Given the description of an element on the screen output the (x, y) to click on. 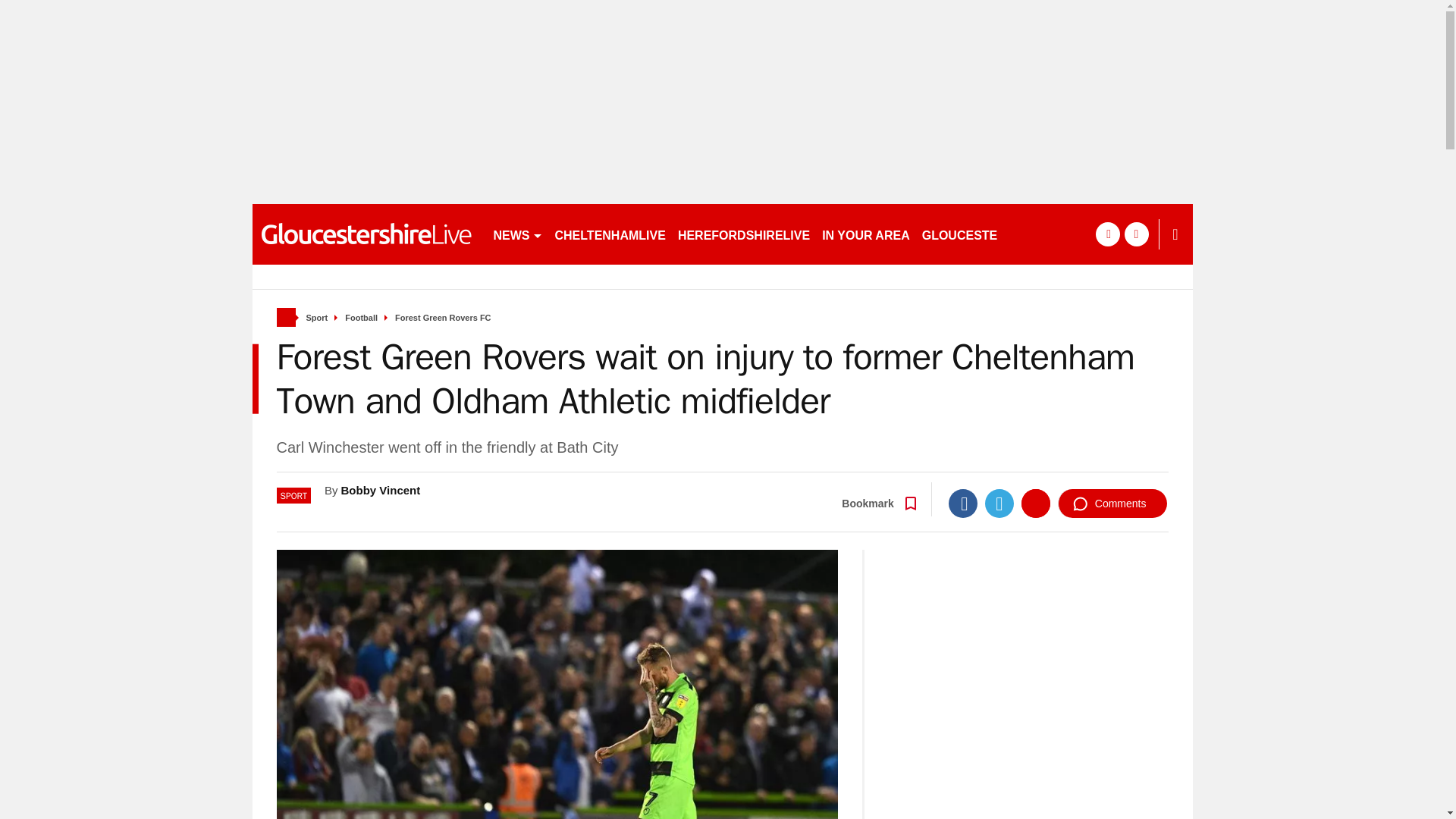
HEREFORDSHIRELIVE (743, 233)
Facebook (962, 502)
twitter (1136, 233)
Comments (1112, 502)
IN YOUR AREA (865, 233)
Twitter (999, 502)
CHELTENHAMLIVE (609, 233)
gloucestershirelive (365, 233)
NEWS (517, 233)
facebook (1106, 233)
